Given the description of an element on the screen output the (x, y) to click on. 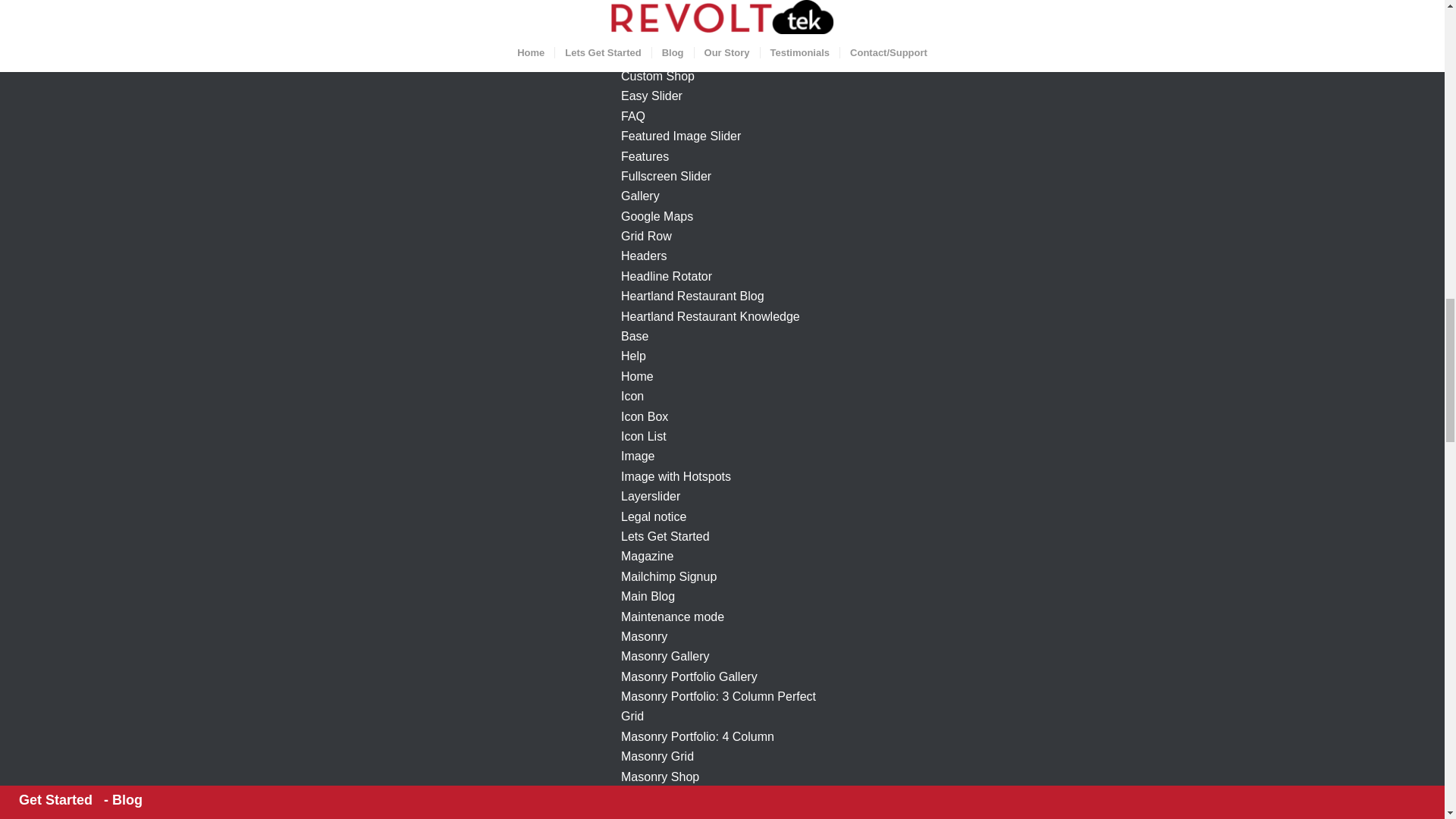
Columns (644, 1)
Featured Image Slider (681, 135)
Google Maps (657, 215)
Features (644, 155)
Custom Shop (657, 75)
Content Slider (659, 56)
Easy Slider (651, 95)
FAQ (633, 115)
Fullscreen Slider (666, 175)
Contact Form (657, 15)
Gallery (640, 195)
